Given the description of an element on the screen output the (x, y) to click on. 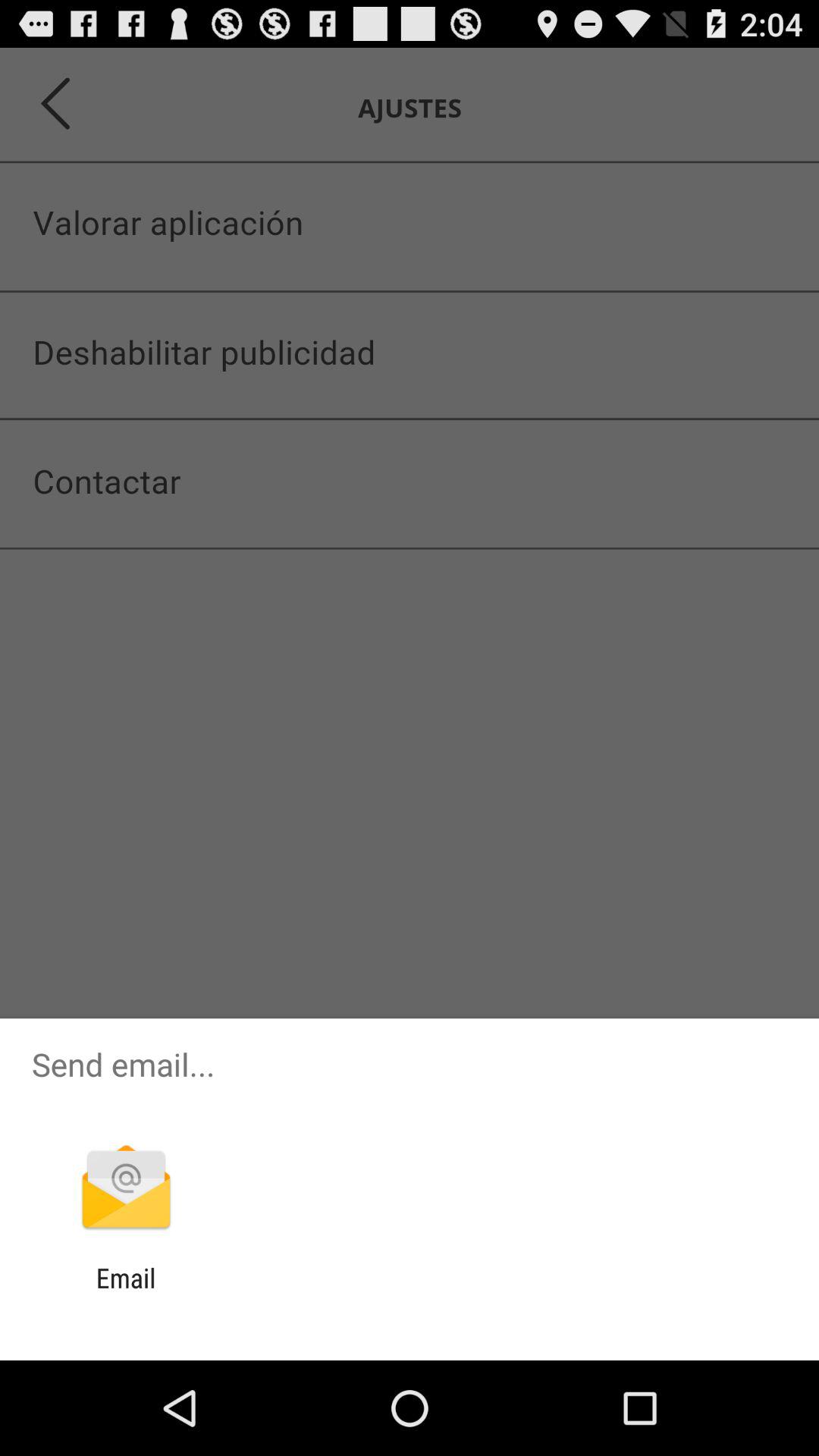
turn on app above the email app (126, 1189)
